Given the description of an element on the screen output the (x, y) to click on. 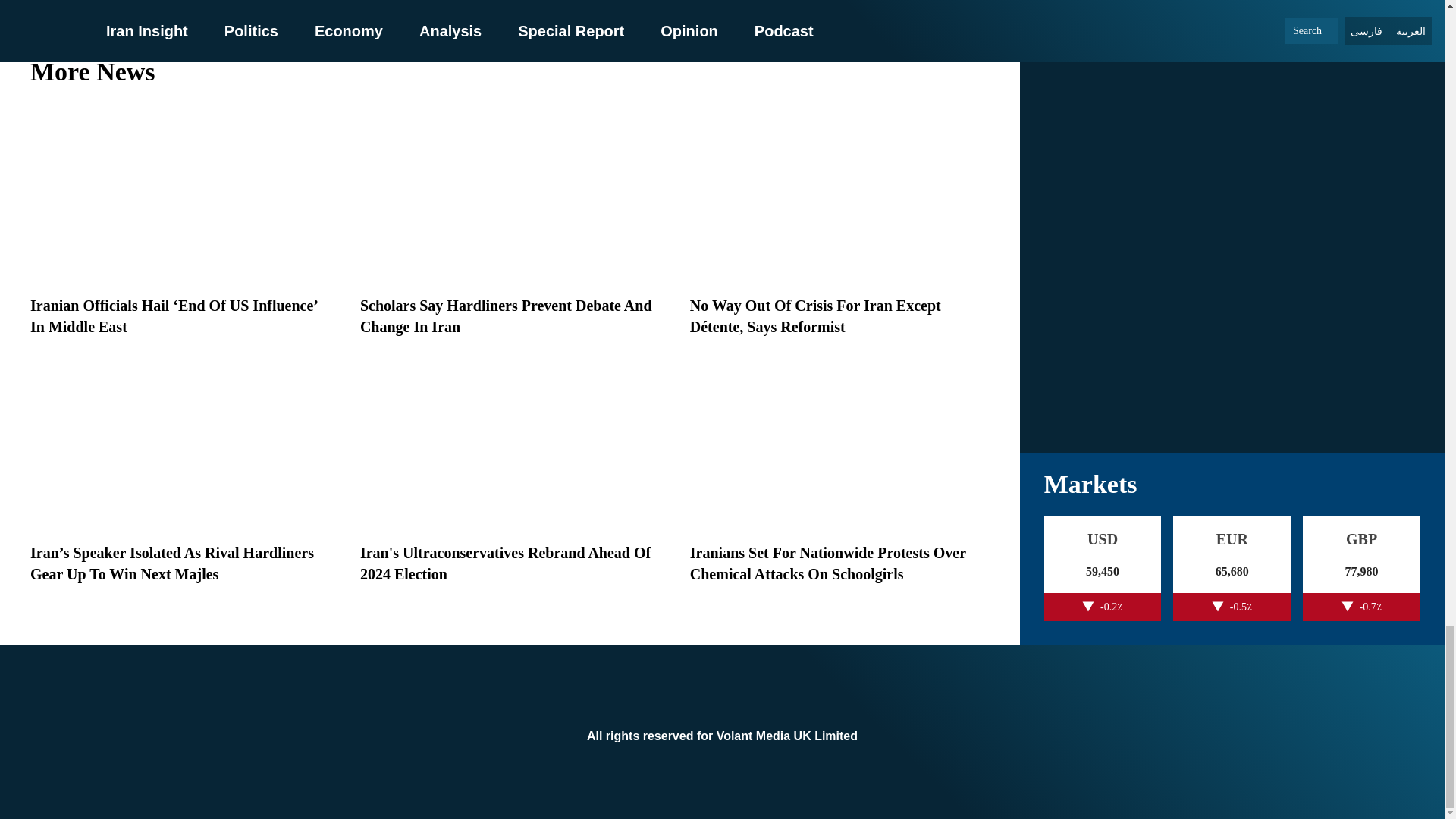
More News (510, 72)
Iran's Ultraconservatives Rebrand Ahead Of 2024 Election (504, 563)
Scholars Say Hardliners Prevent Debate And Change In Iran (505, 315)
